Given the description of an element on the screen output the (x, y) to click on. 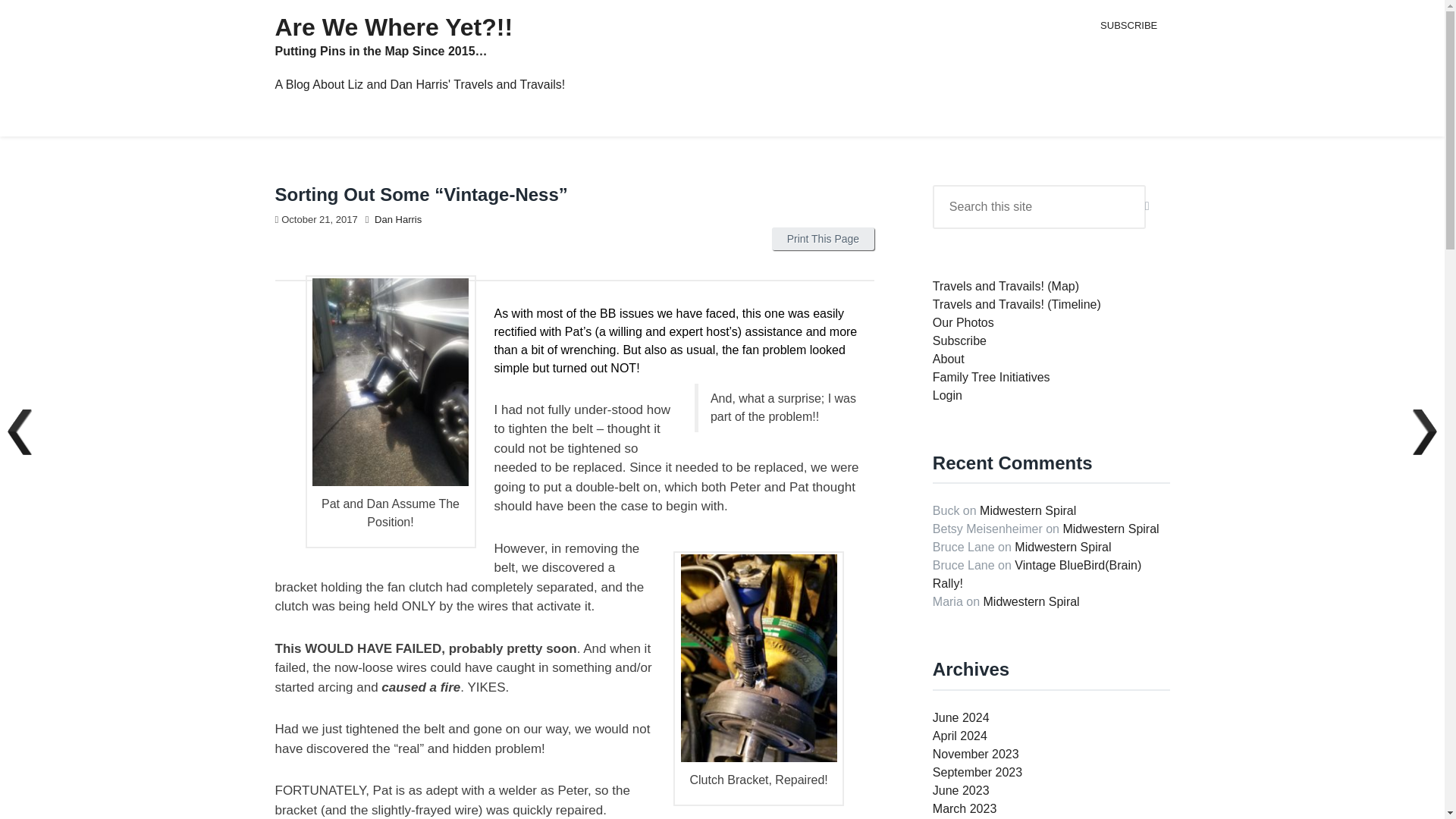
Dan Harris (398, 219)
June 2024 (961, 717)
October 21, 2017 (318, 219)
Midwestern Spiral (1110, 528)
Are We Where Yet?!! (393, 26)
March 2023 (965, 808)
SUBSCRIBE (1128, 25)
Family Tree Initiatives (991, 377)
